Given the description of an element on the screen output the (x, y) to click on. 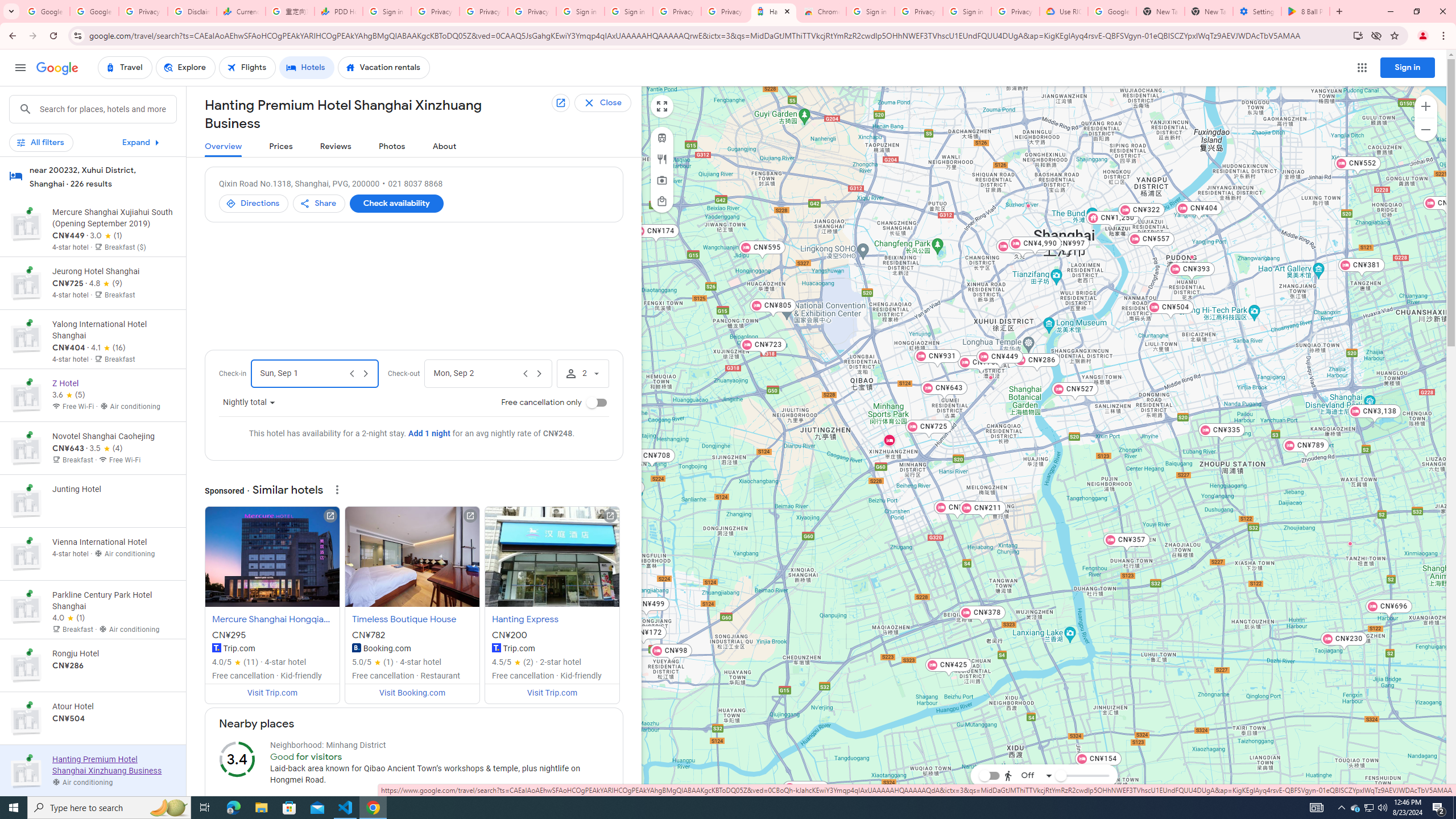
View prices for Z Hotel (113, 434)
Zoom in map (1425, 106)
New Tab (1208, 11)
4.5 out of 5 stars from 2 reviews (513, 662)
Check availability (396, 203)
PDD Holdings Inc - ADR (PDD) Price & News - Google Finance (338, 11)
Sign in - Google Accounts (580, 11)
Price displayedNightly total (248, 402)
Check-in (302, 373)
Expand (142, 142)
